Given the description of an element on the screen output the (x, y) to click on. 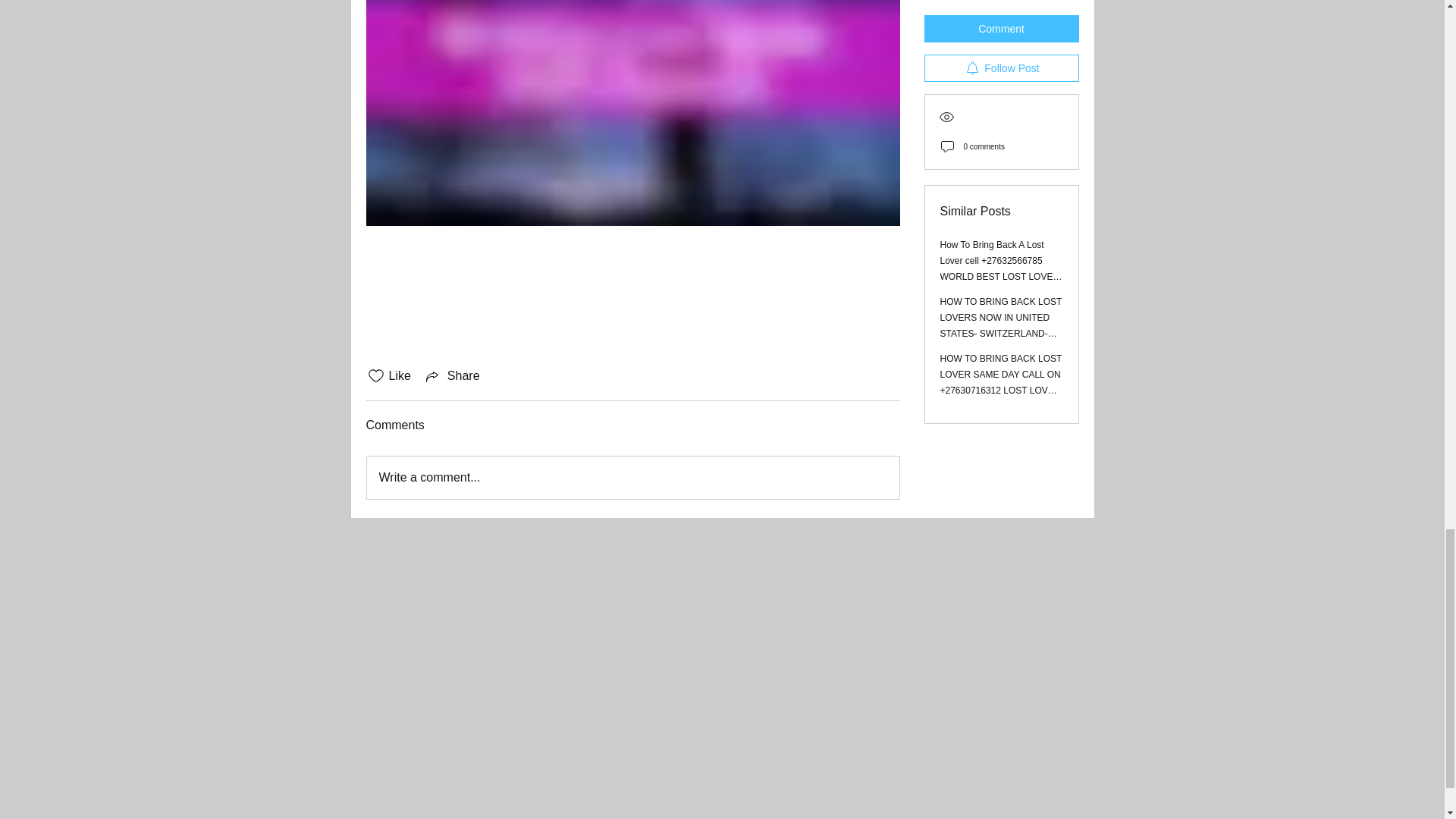
Write a comment... (632, 477)
Share (451, 375)
